Given the description of an element on the screen output the (x, y) to click on. 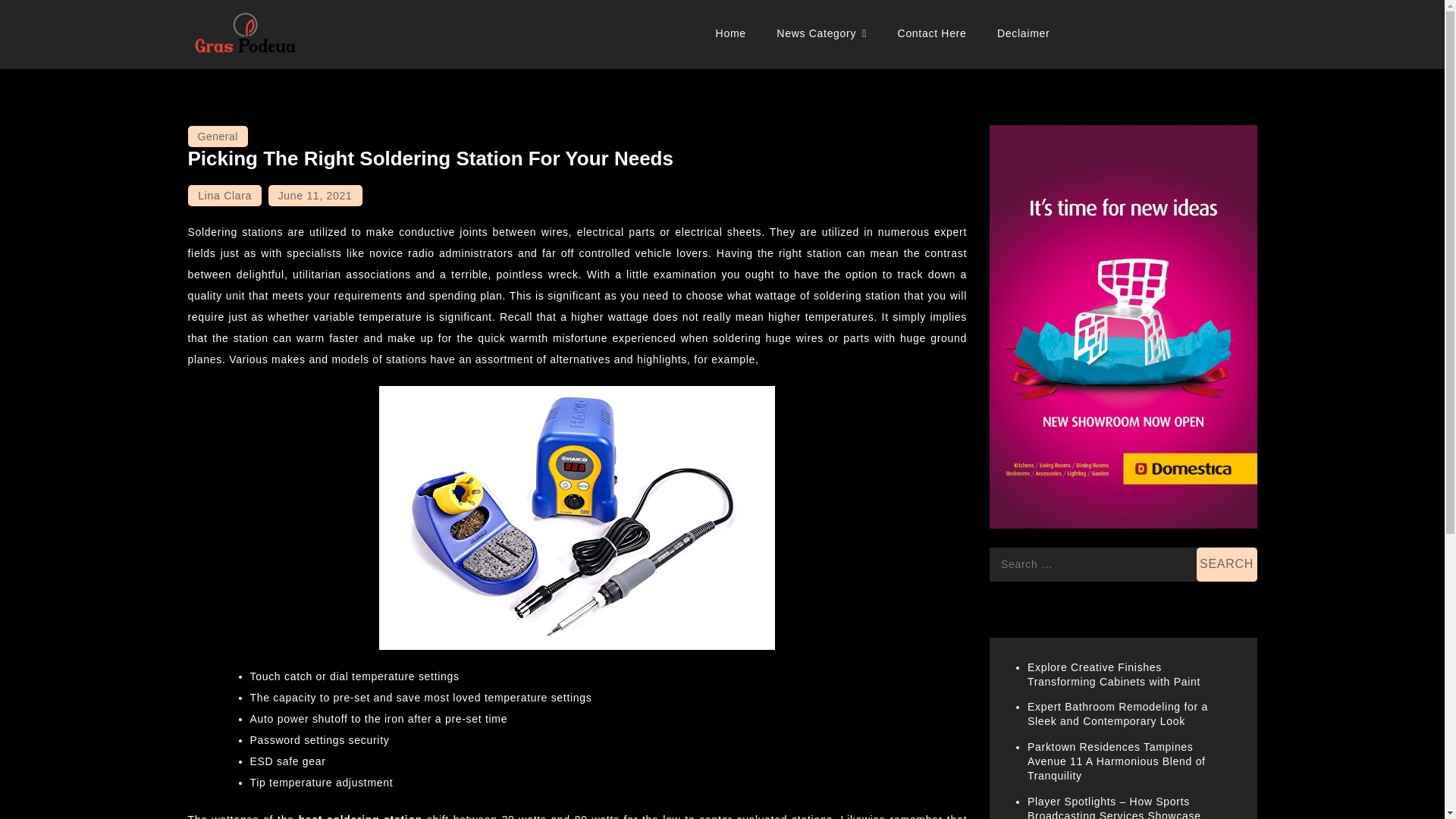
June 11, 2021 (314, 195)
Explore Creative Finishes Transforming Cabinets with Paint (1113, 673)
Lina Clara (224, 195)
Declaimer (1023, 33)
best soldering station (360, 816)
Contact Here (931, 33)
General (217, 136)
Home (730, 33)
News Category (821, 33)
Search (1226, 564)
